Given the description of an element on the screen output the (x, y) to click on. 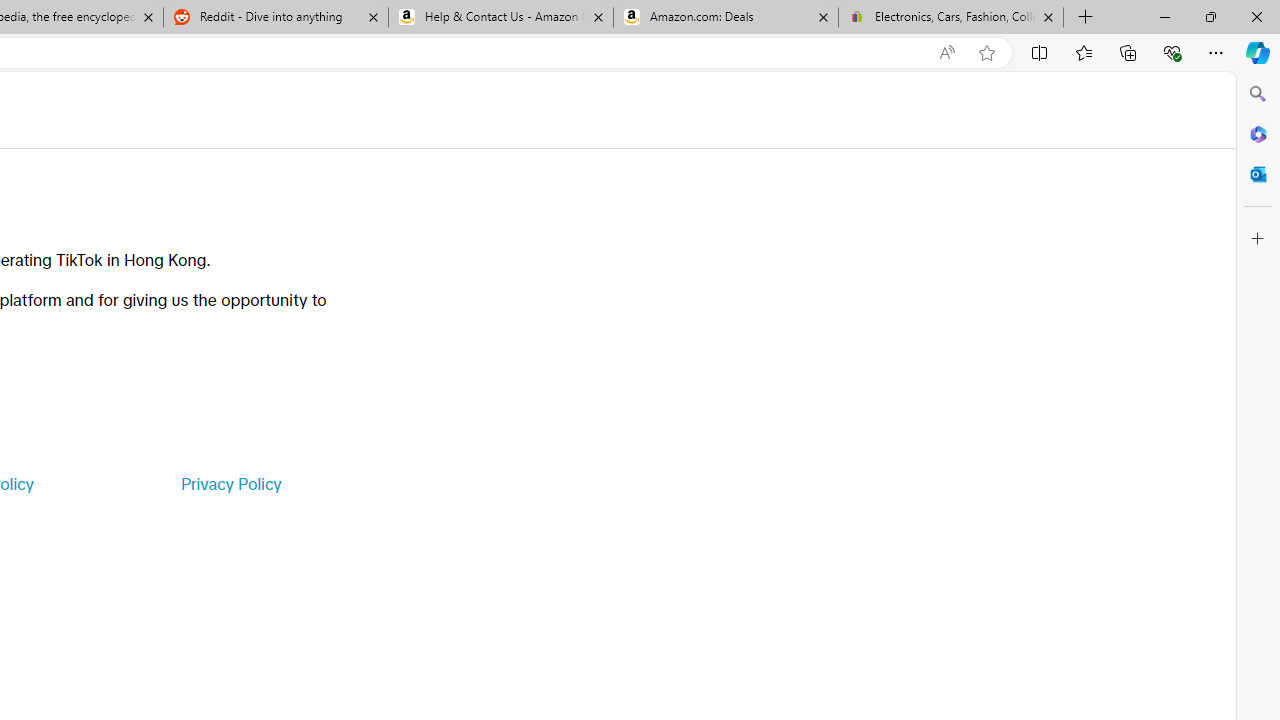
Privacy Policy (230, 484)
Amazon.com: Deals (726, 17)
